Given the description of an element on the screen output the (x, y) to click on. 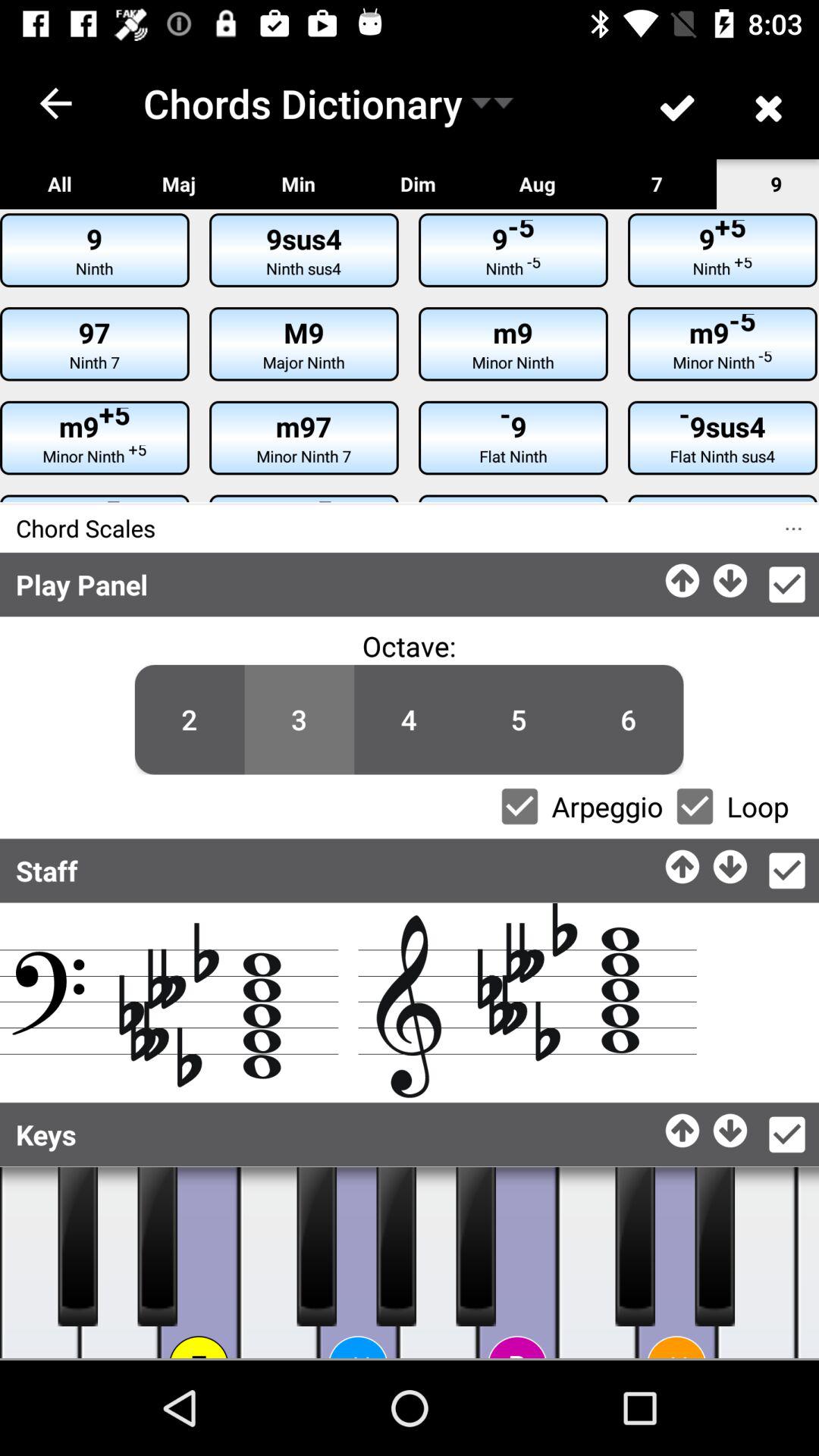
keybord (437, 1262)
